Given the description of an element on the screen output the (x, y) to click on. 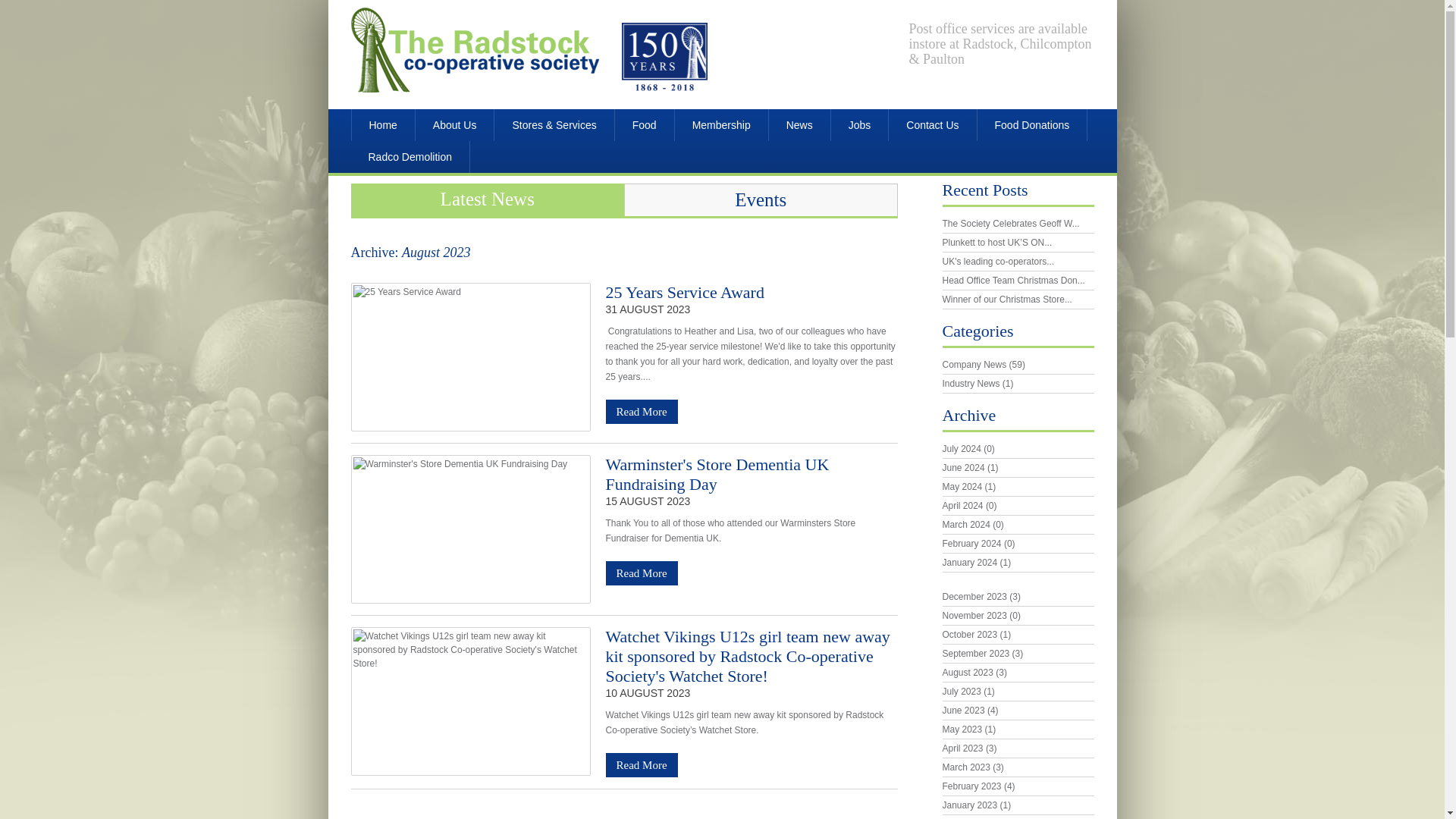
Jobs (859, 124)
Events (761, 199)
The Society Celebrates Geoff W... (1010, 223)
Winner of our Christmas Store... (1006, 299)
25 Years Service Award (683, 292)
Food (644, 124)
Warminster's Store Dementia UK Fundraising Day (716, 474)
Food (644, 124)
UK's leading co-operators... (998, 261)
Read More (641, 764)
Read More (641, 573)
Events (761, 199)
Read More (641, 573)
About Us (454, 124)
Food Donations (1031, 124)
